Given the description of an element on the screen output the (x, y) to click on. 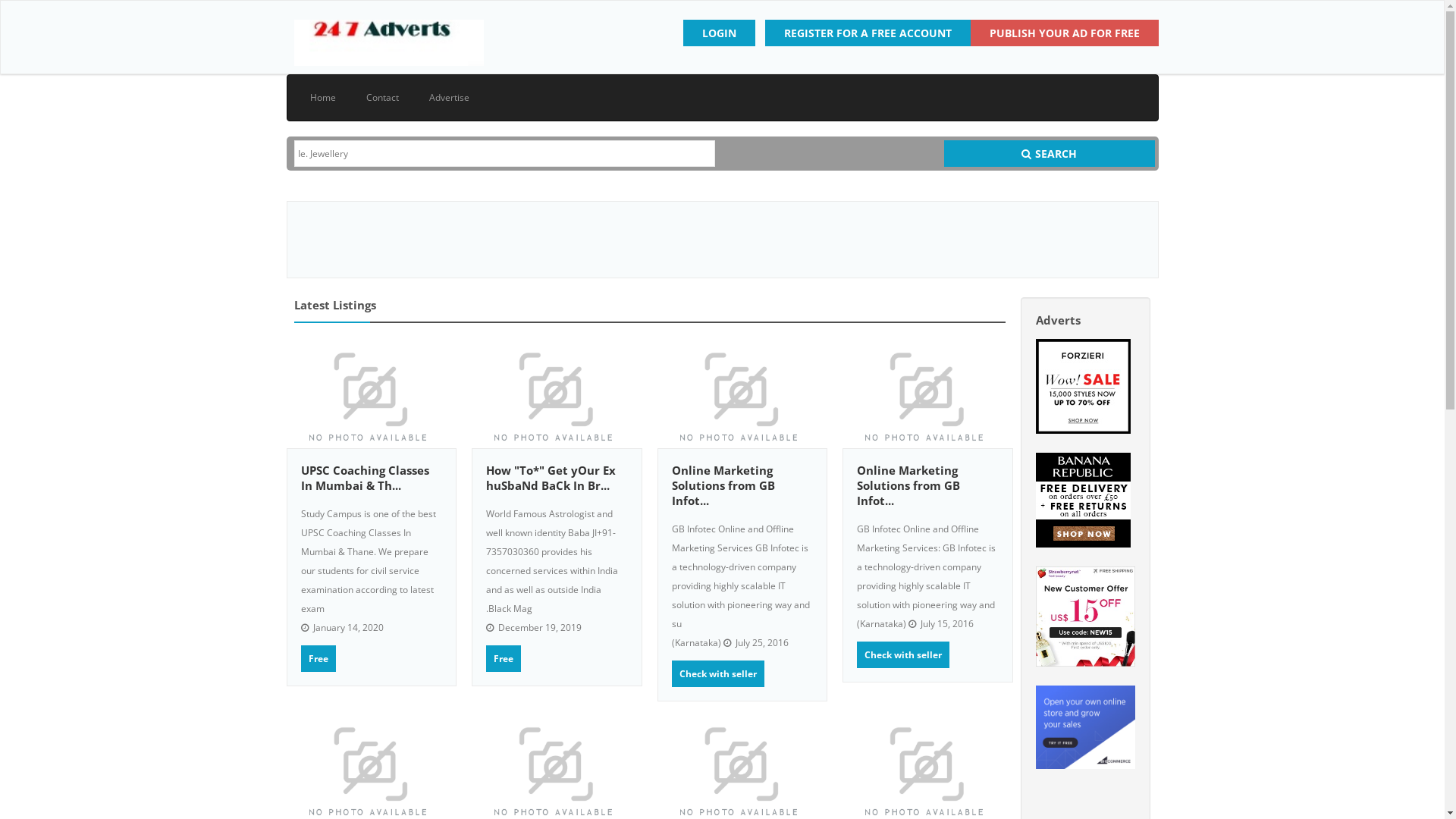
Contact Element type: text (381, 97)
UPSC Coaching Classes In Mumbai & Th... Element type: text (364, 477)
How "To*" Get yOur Ex huSbaNd BaCk In Br... Element type: text (550, 477)
Online Marketing Solutions from GB Infot... Element type: text (908, 485)
Free Element type: text (503, 658)
Advertise Element type: text (449, 97)
Check with seller Element type: text (717, 673)
SEARCH Element type: text (1049, 153)
Home Element type: text (322, 97)
REGISTER FOR A FREE ACCOUNT Element type: text (866, 32)
Online Marketing Solutions from GB Infot... Element type: text (723, 485)
Free Element type: text (317, 658)
PUBLISH YOUR AD FOR FREE Element type: text (1064, 32)
Check with seller Element type: text (902, 654)
Advertisement Element type: hover (721, 239)
UPSC Coaching Classes In Mumbai & Thane Element type: hover (371, 395)
LOGIN Element type: text (718, 32)
